Given the description of an element on the screen output the (x, y) to click on. 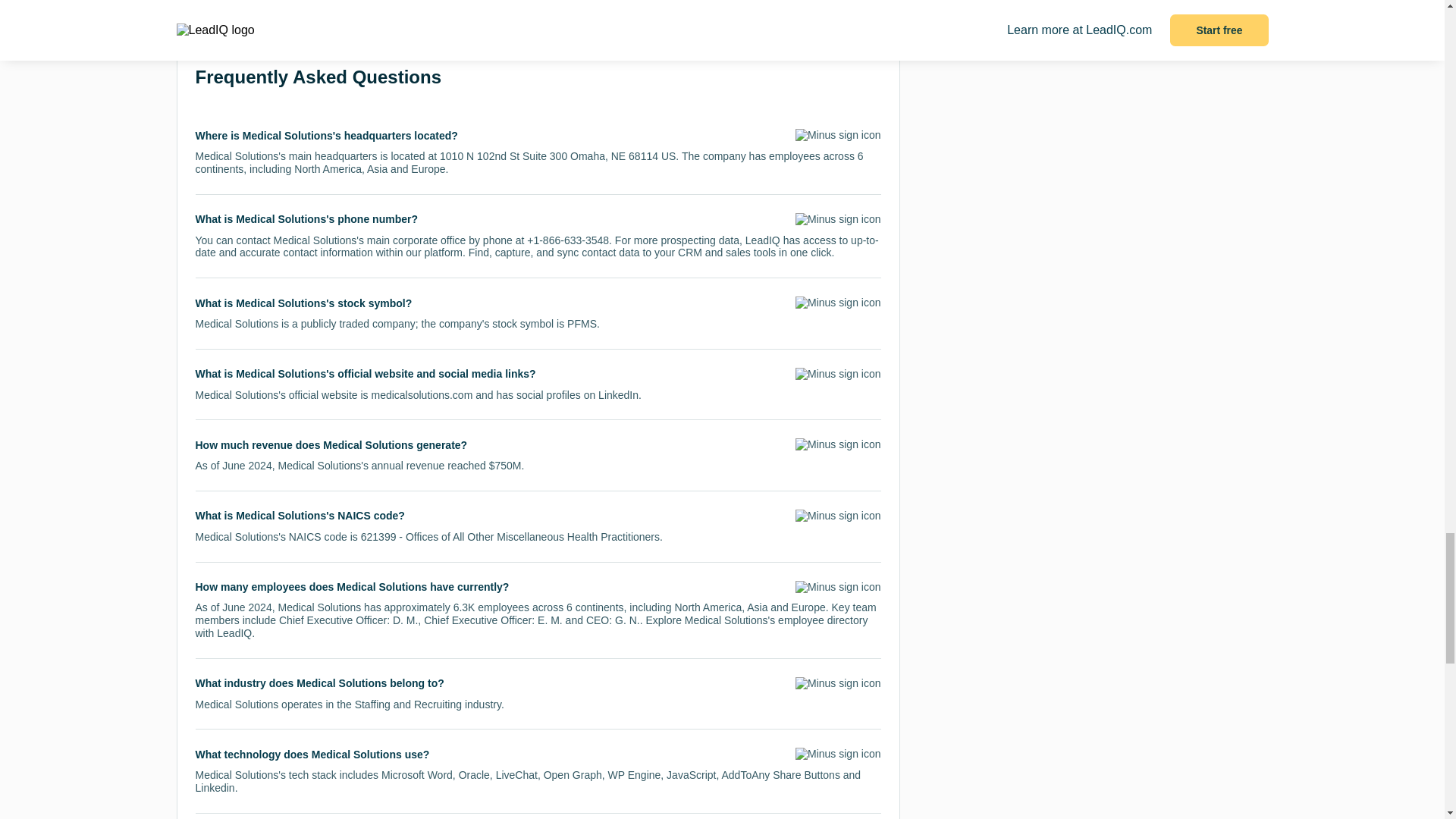
Medical Solutions's employee directory (775, 620)
medicalsolutions.com (421, 395)
LinkedIn (618, 395)
